Given the description of an element on the screen output the (x, y) to click on. 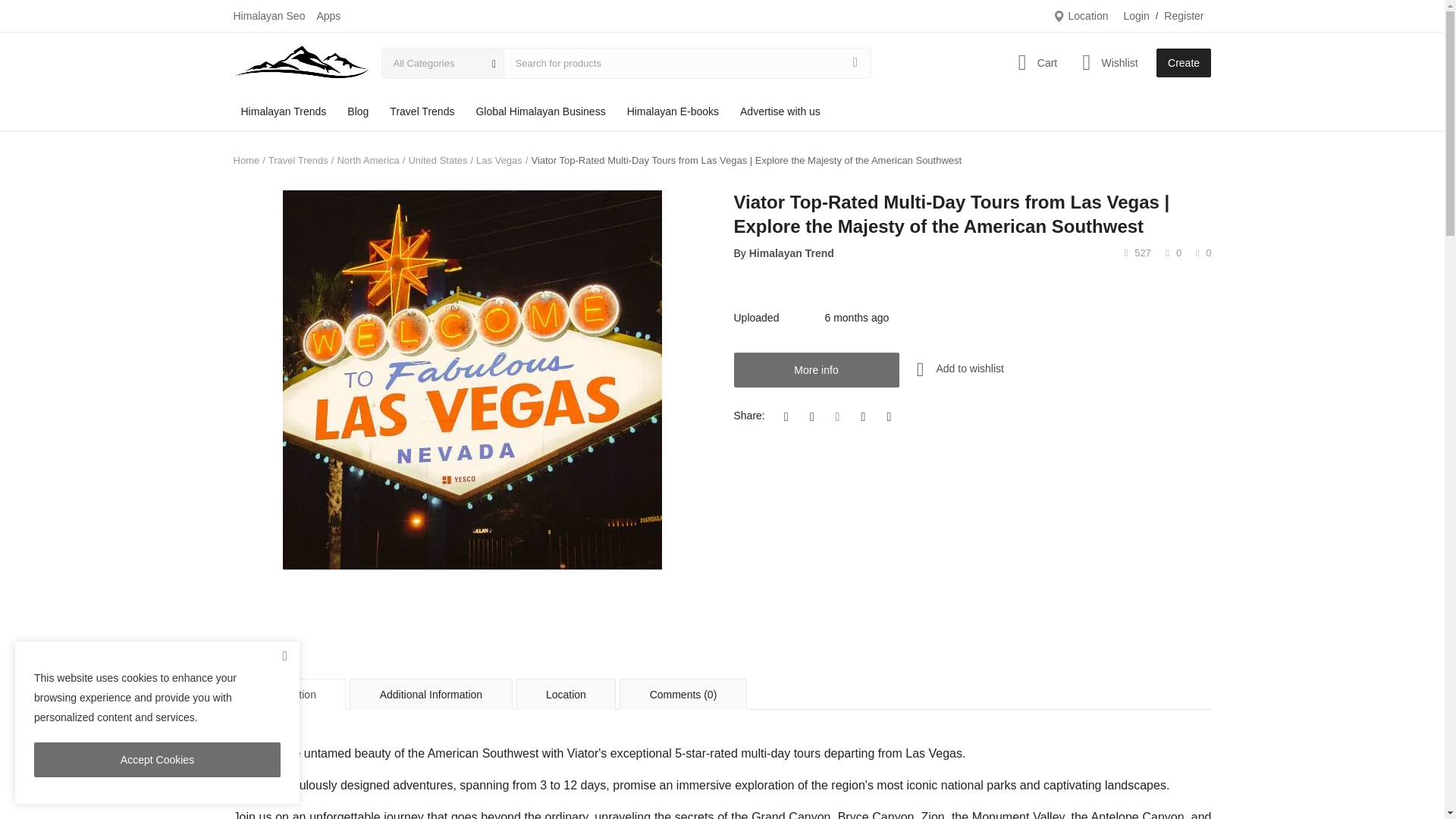
Cart (1035, 62)
All Categories (442, 63)
Himalayan Seo (268, 15)
Advertisement (558, 661)
Wishlist (1105, 62)
Apps (327, 15)
Login (1135, 15)
Advertisement (721, 603)
Himalayan Trends (283, 111)
Create (1183, 62)
Register (1183, 15)
Location (1080, 15)
